Given the description of an element on the screen output the (x, y) to click on. 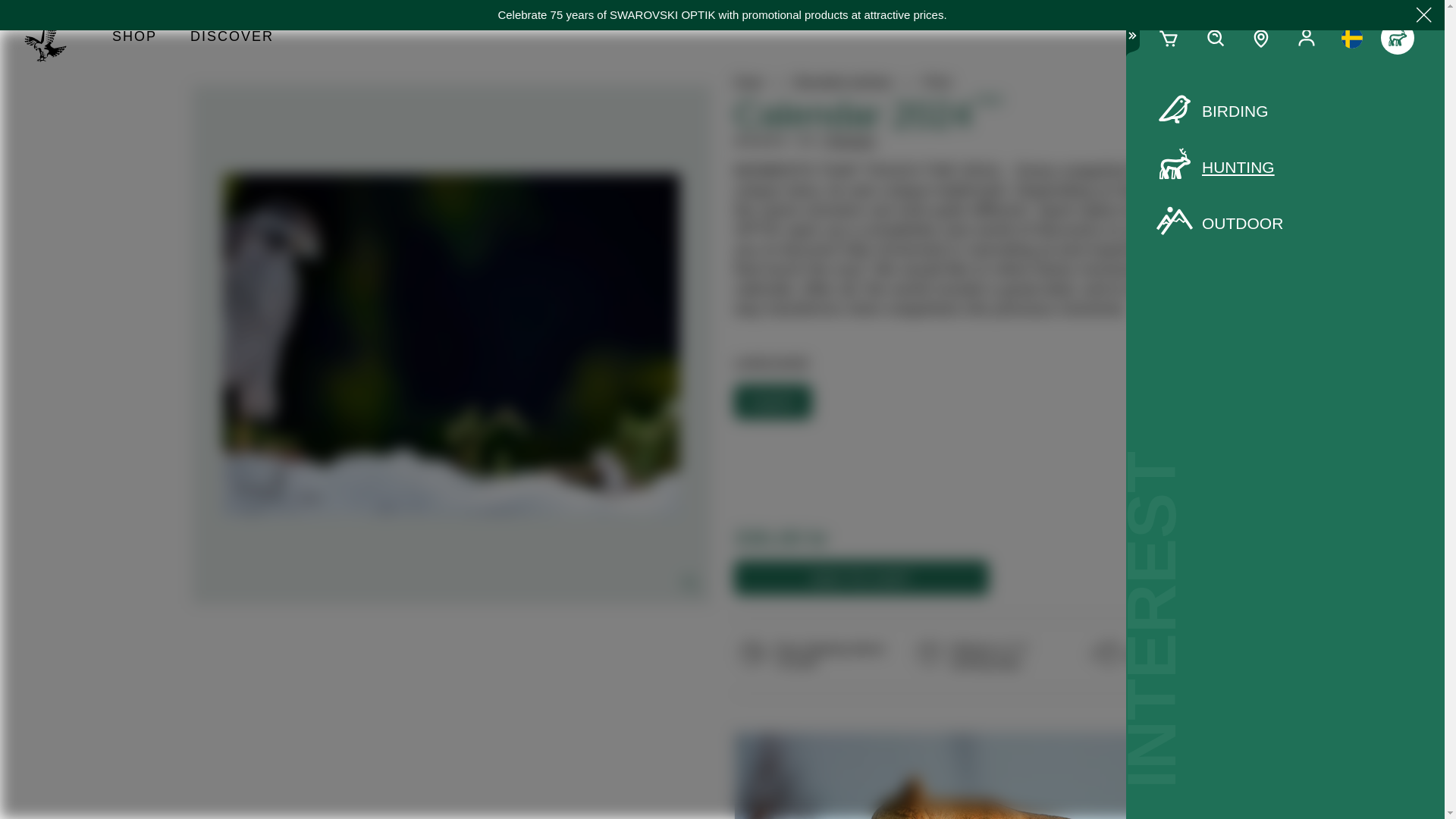
COUNTRY (1351, 37)
HUNTING (1284, 167)
Swarovski Optik (51, 38)
BIRDING (1284, 110)
OUTDOOR (1284, 223)
DISCOVER (231, 37)
Shop (134, 37)
SEARCH (1215, 37)
Discover (231, 37)
SHOP (134, 37)
DEALER LOCATOR (1261, 37)
INTEREST (1397, 37)
ACCOUNT (1306, 37)
CART (1169, 37)
